Given the description of an element on the screen output the (x, y) to click on. 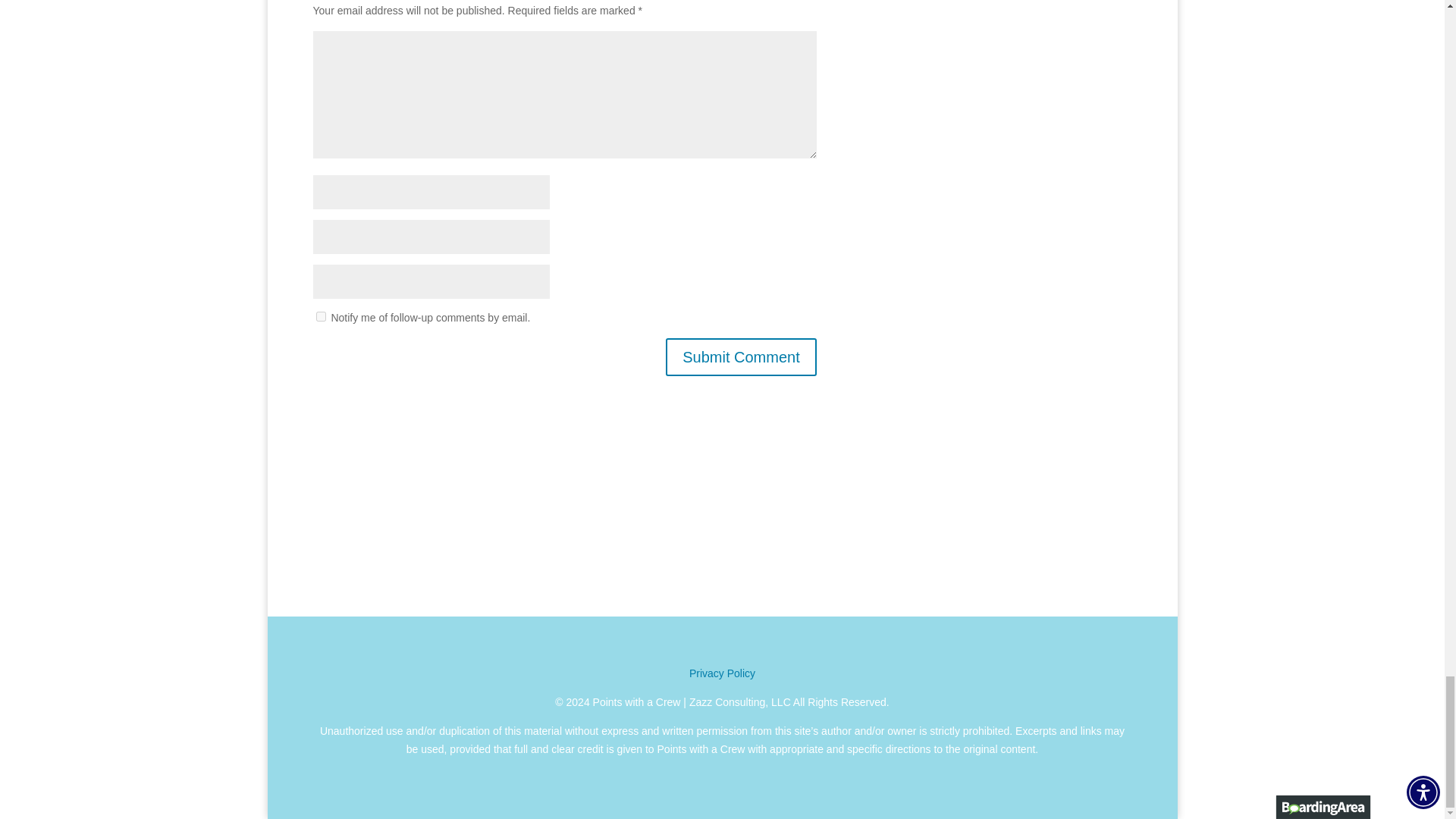
subscribe (319, 316)
Submit Comment (740, 356)
